Given the description of an element on the screen output the (x, y) to click on. 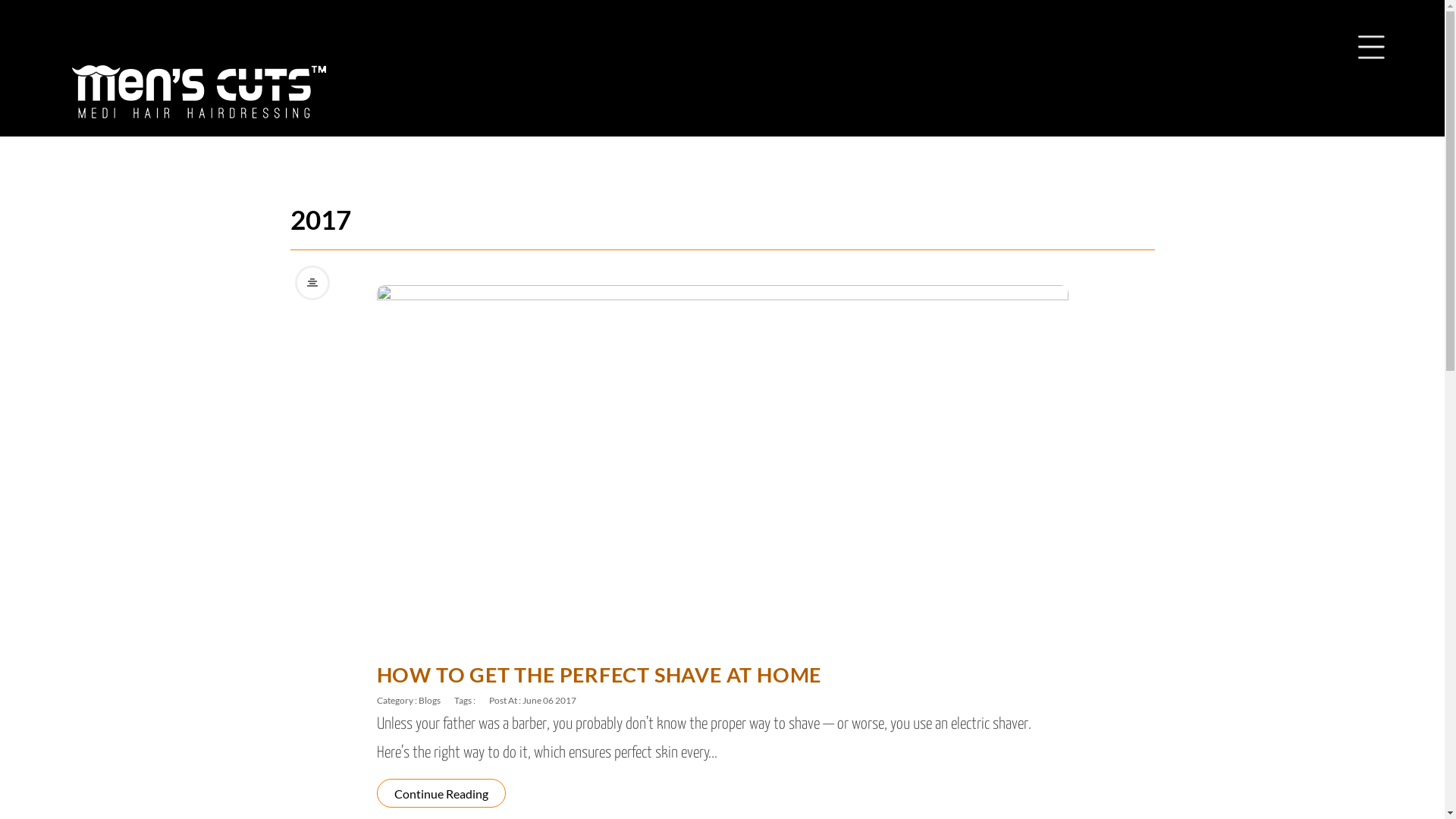
Blogs Element type: text (429, 700)
HOW TO GET THE PERFECT SHAVE AT HOME Element type: text (598, 673)
Restaurant Employer Read Clients Orders On His iPad Element type: hover (721, 455)
Continue Reading Element type: text (440, 792)
